Given the description of an element on the screen output the (x, y) to click on. 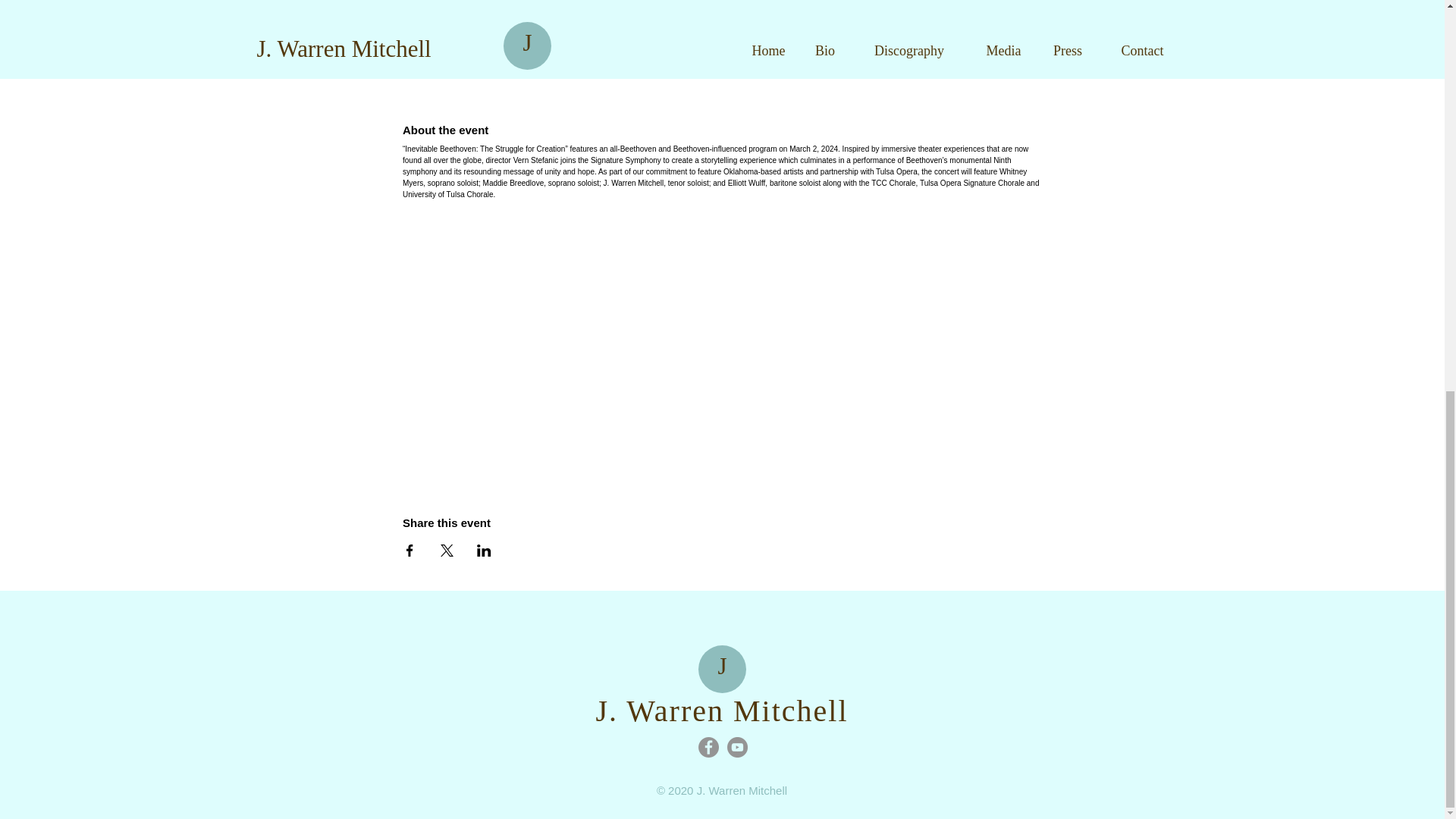
J (721, 665)
